Given the description of an element on the screen output the (x, y) to click on. 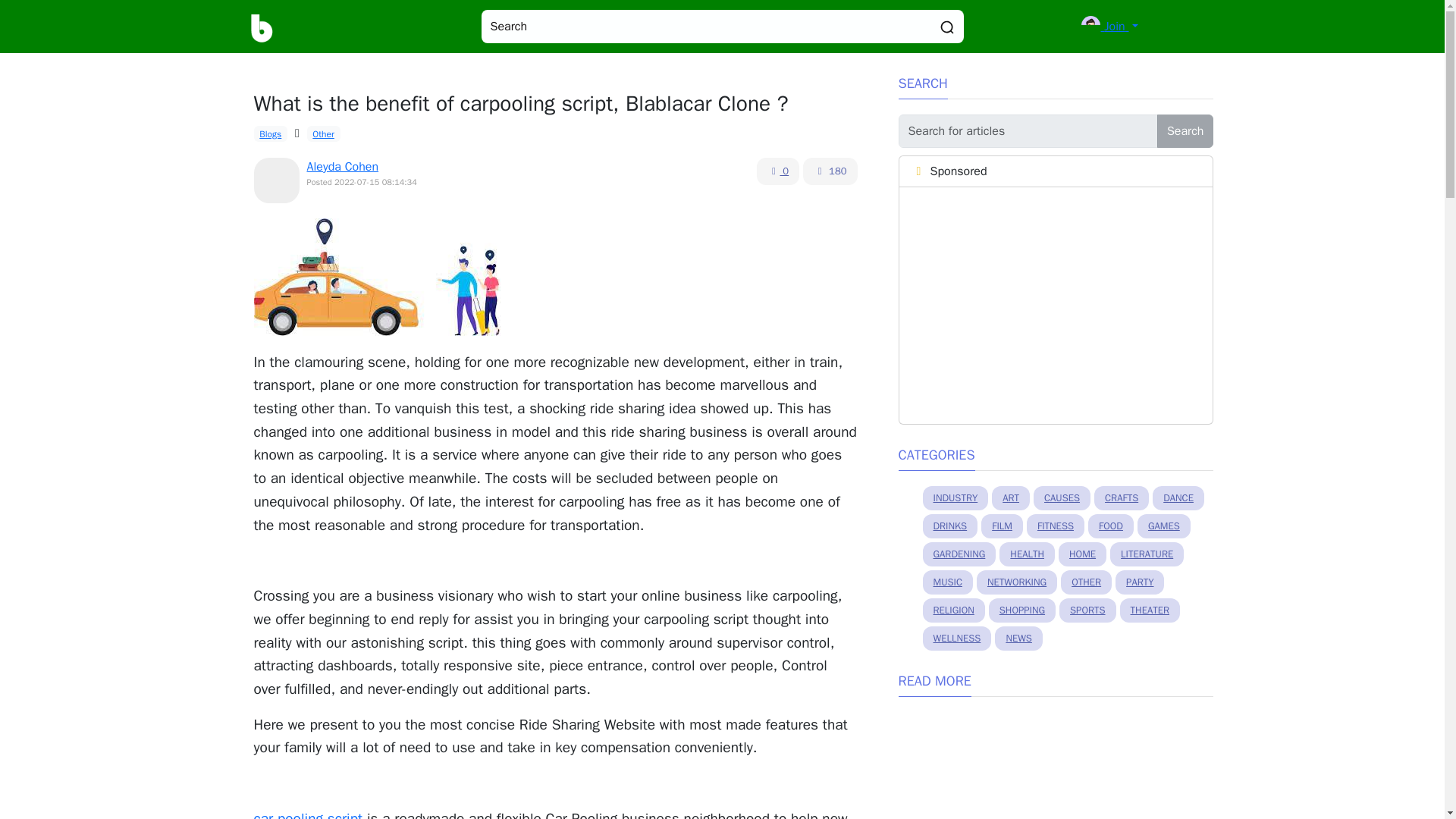
Blogs (269, 133)
Other (323, 133)
Bresdel (262, 27)
0 (778, 171)
Aleyda Cohen (341, 166)
Join (1109, 26)
car pooling script (307, 814)
